Given the description of an element on the screen output the (x, y) to click on. 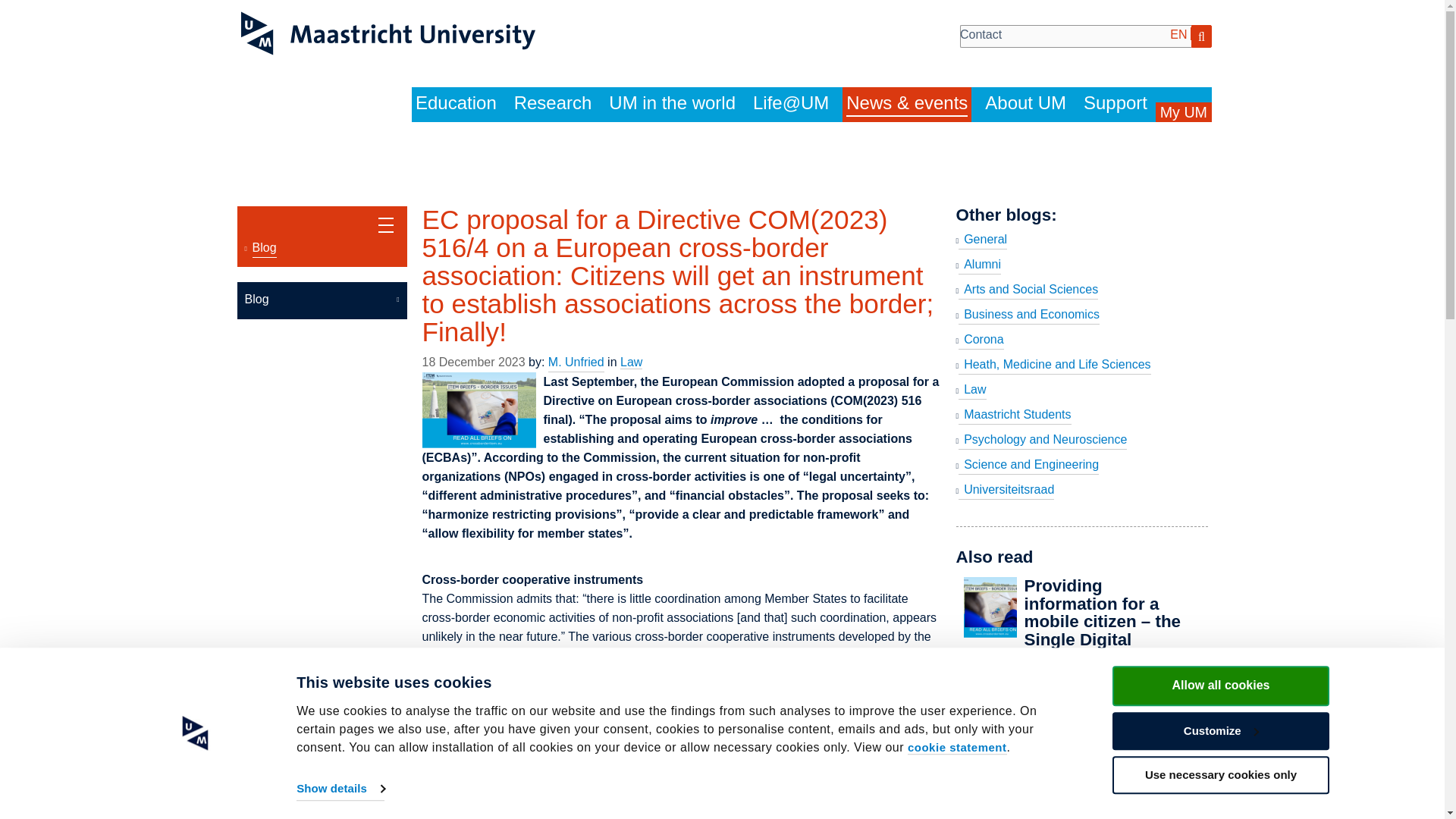
Show details (340, 789)
Maastricht University Logo (388, 33)
cookie statement (956, 747)
